Given the description of an element on the screen output the (x, y) to click on. 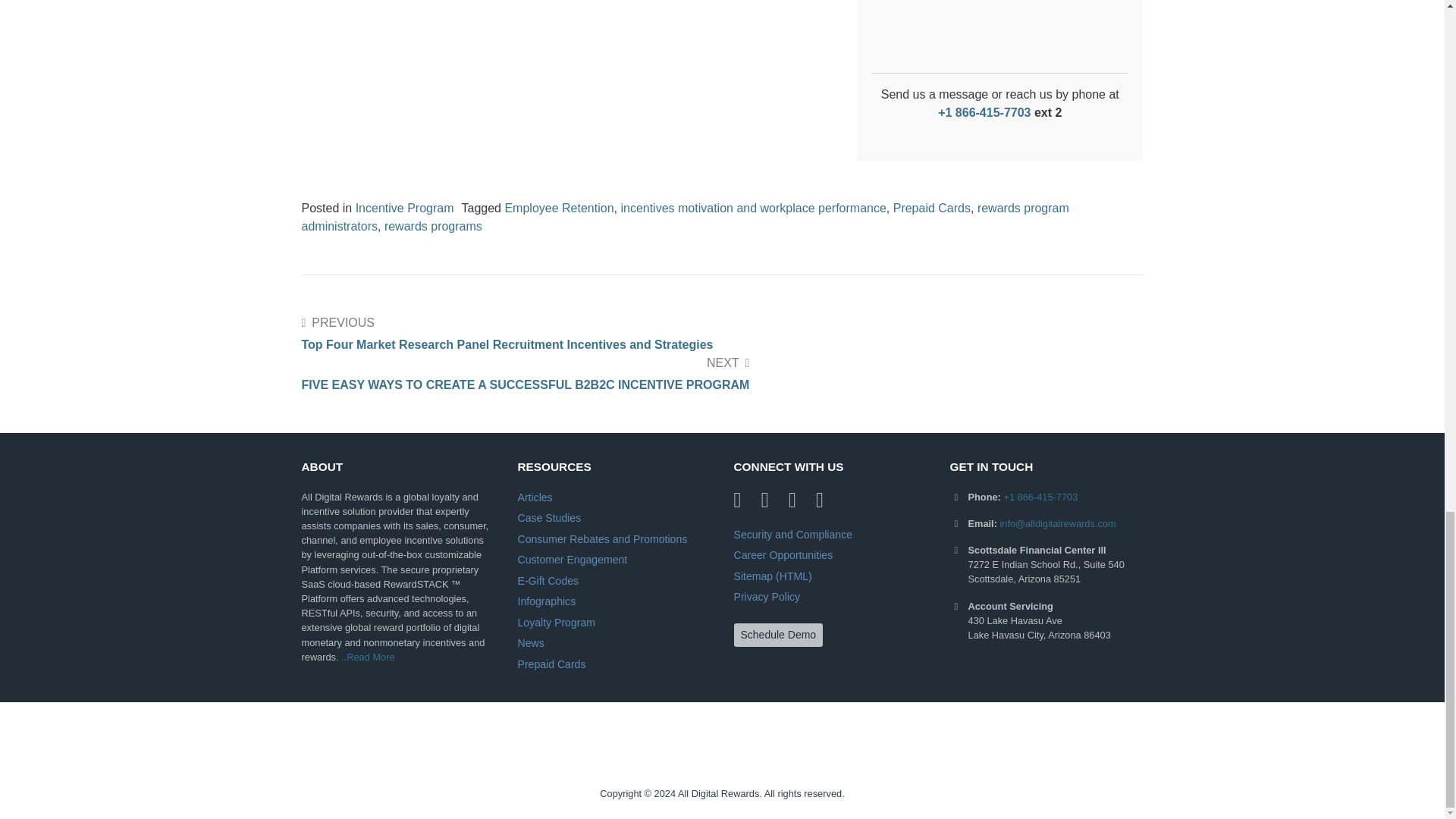
Customer Engagement (571, 559)
Consumer Rebates and Promotions (601, 539)
Infographics (545, 601)
Articles (533, 497)
E-Gift Codes (547, 580)
Case Studies (548, 517)
News (529, 643)
Loyalty Program (555, 622)
Prepaid Cards (550, 664)
